Given the description of an element on the screen output the (x, y) to click on. 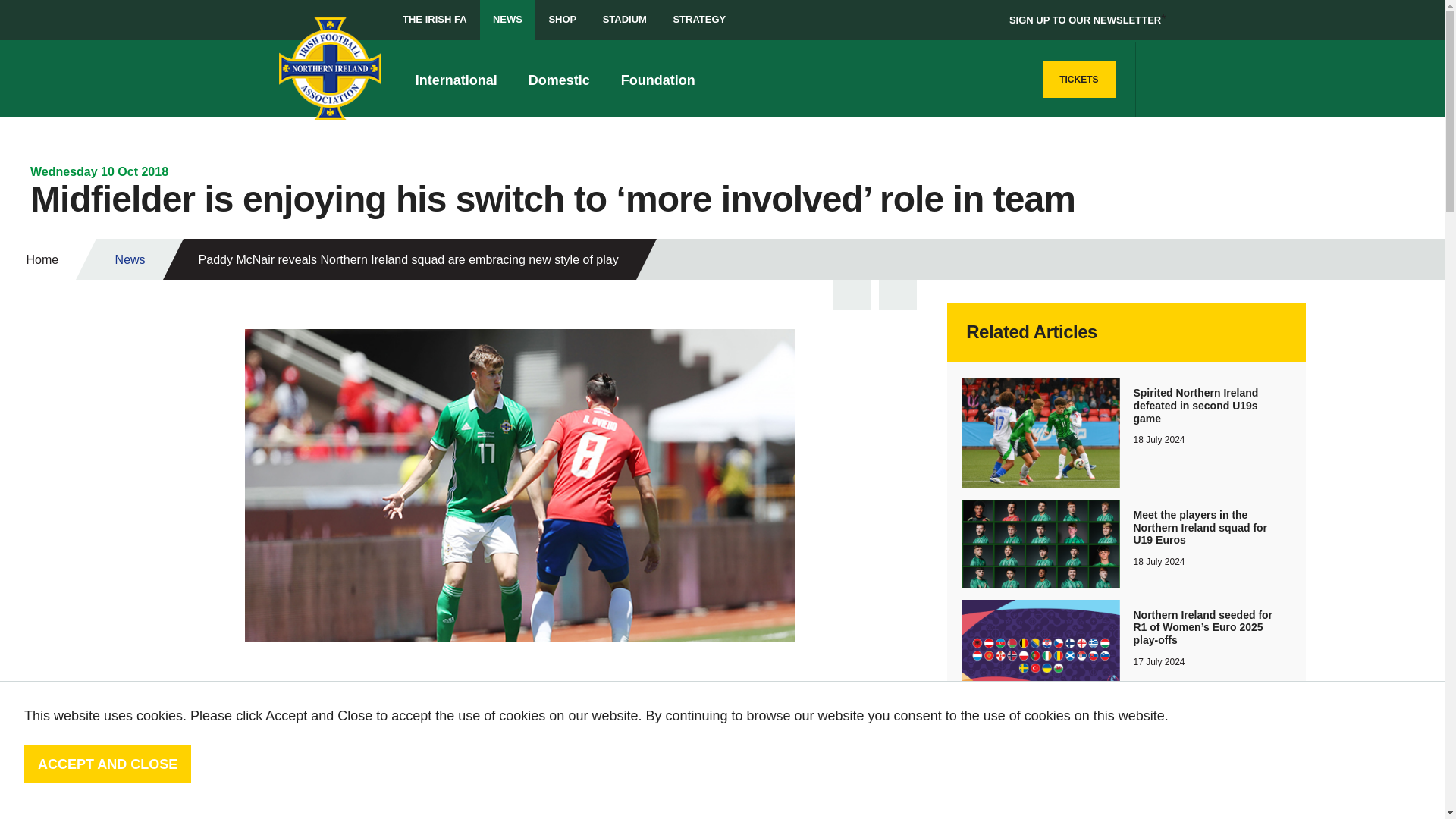
Domestic  (563, 79)
TICKETS (1078, 79)
International  (460, 79)
THE IRISH FA (435, 20)
Foundation  (662, 79)
NEWS (507, 20)
SHOP (562, 20)
SIGN UP TO OUR NEWSLETTER (1084, 19)
STADIUM (624, 20)
STRATEGY (698, 20)
